Given the description of an element on the screen output the (x, y) to click on. 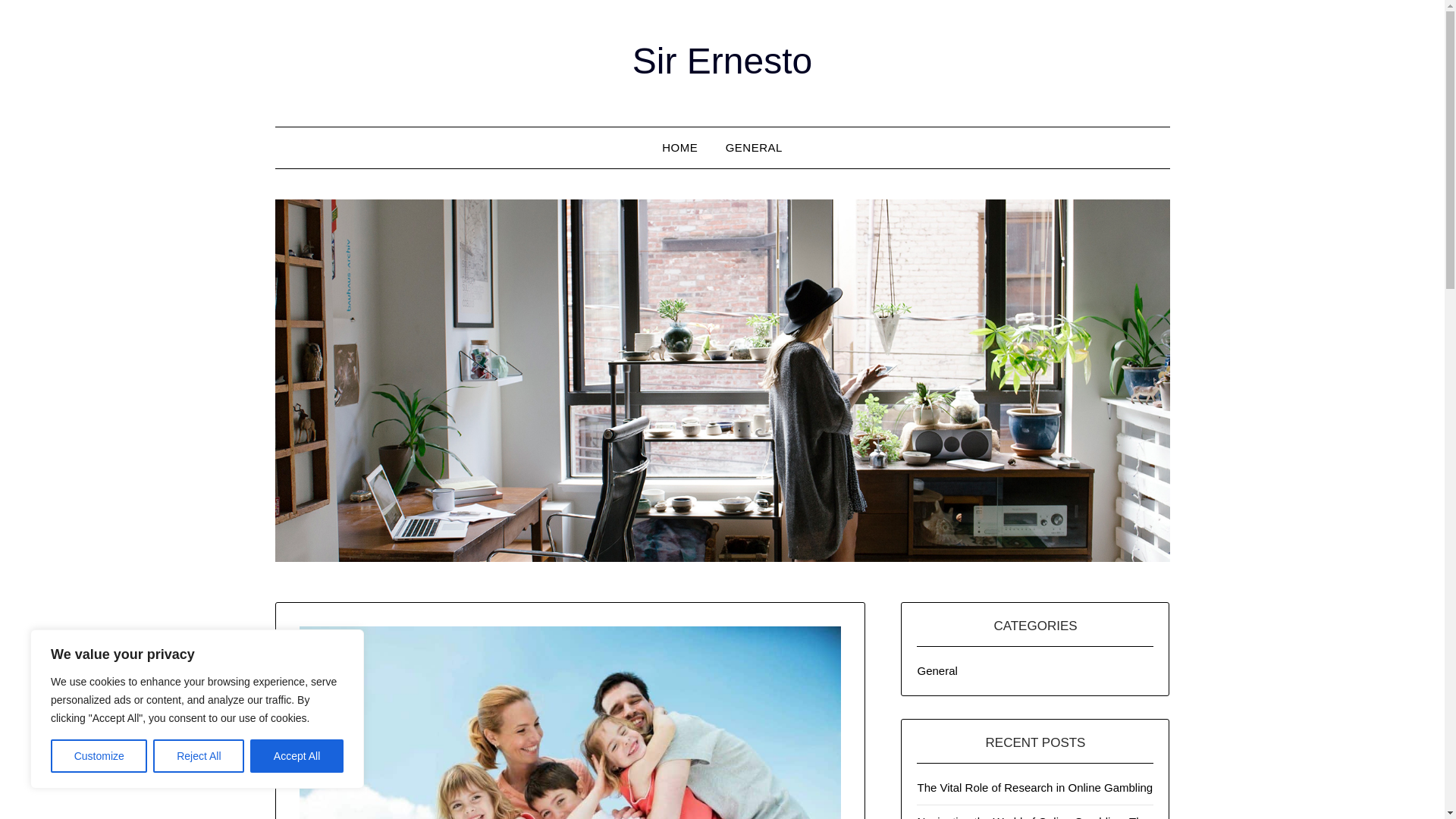
Sir Ernesto (721, 60)
Accept All (296, 756)
HOME (679, 147)
The Vital Role of Research in Online Gambling (1035, 787)
Customize (98, 756)
GENERAL (753, 147)
Reject All (198, 756)
General (936, 670)
